Given the description of an element on the screen output the (x, y) to click on. 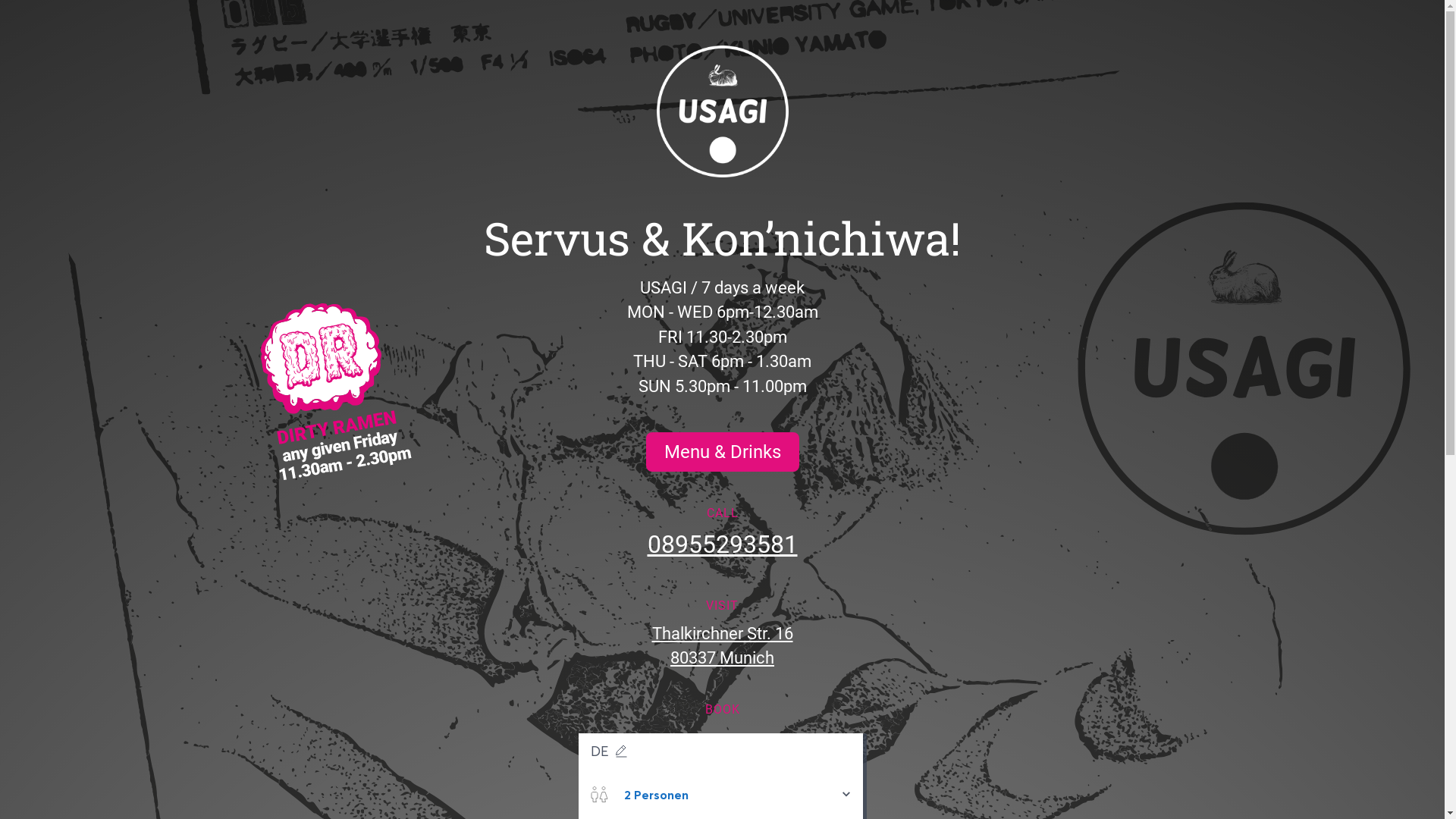
Thalkirchner Str. 16
80337 Munich Element type: text (722, 645)
08955293581 Element type: text (722, 544)
Menu & Drinks Element type: text (722, 451)
